Given the description of an element on the screen output the (x, y) to click on. 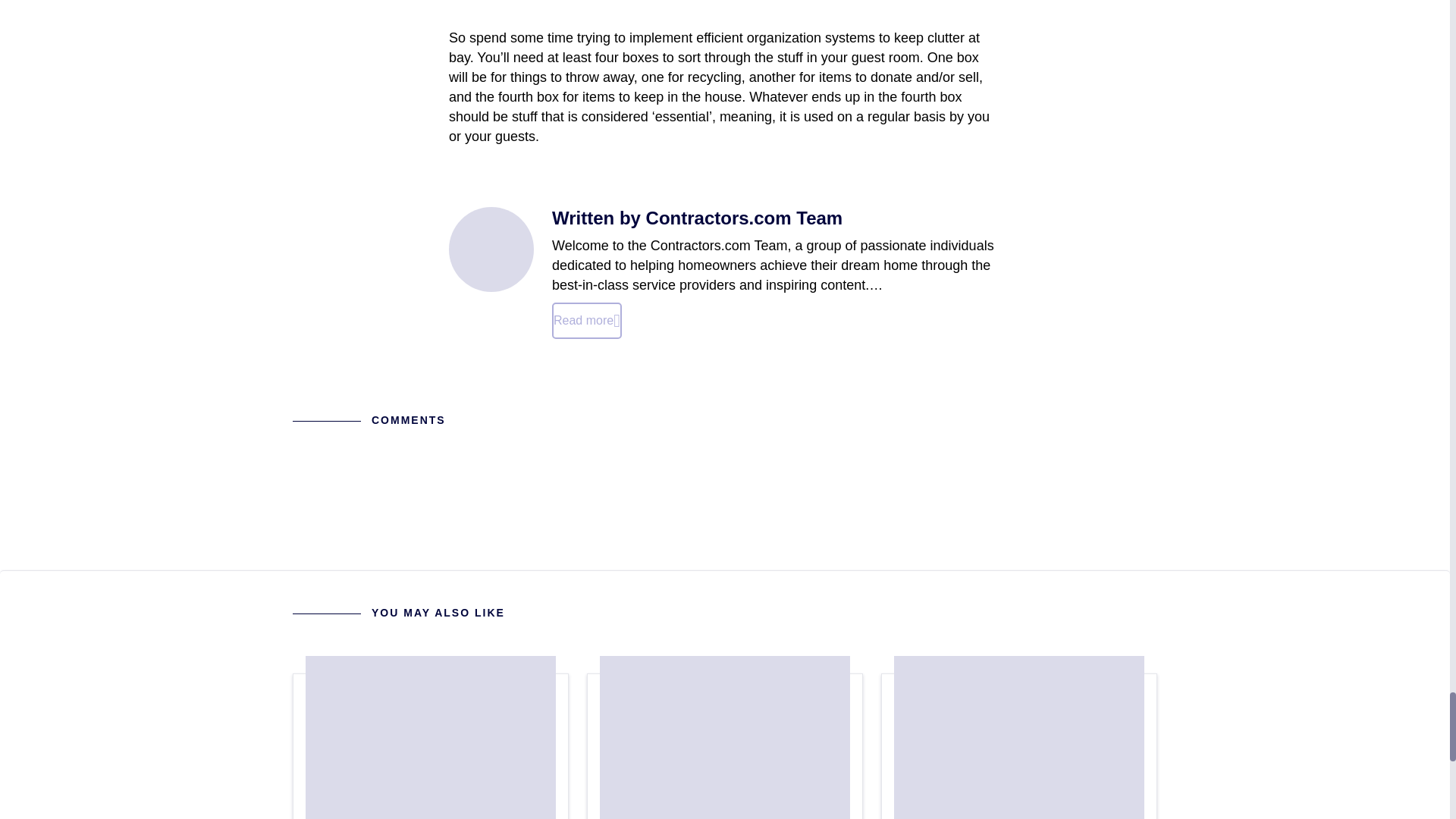
Read more (1018, 737)
